Given the description of an element on the screen output the (x, y) to click on. 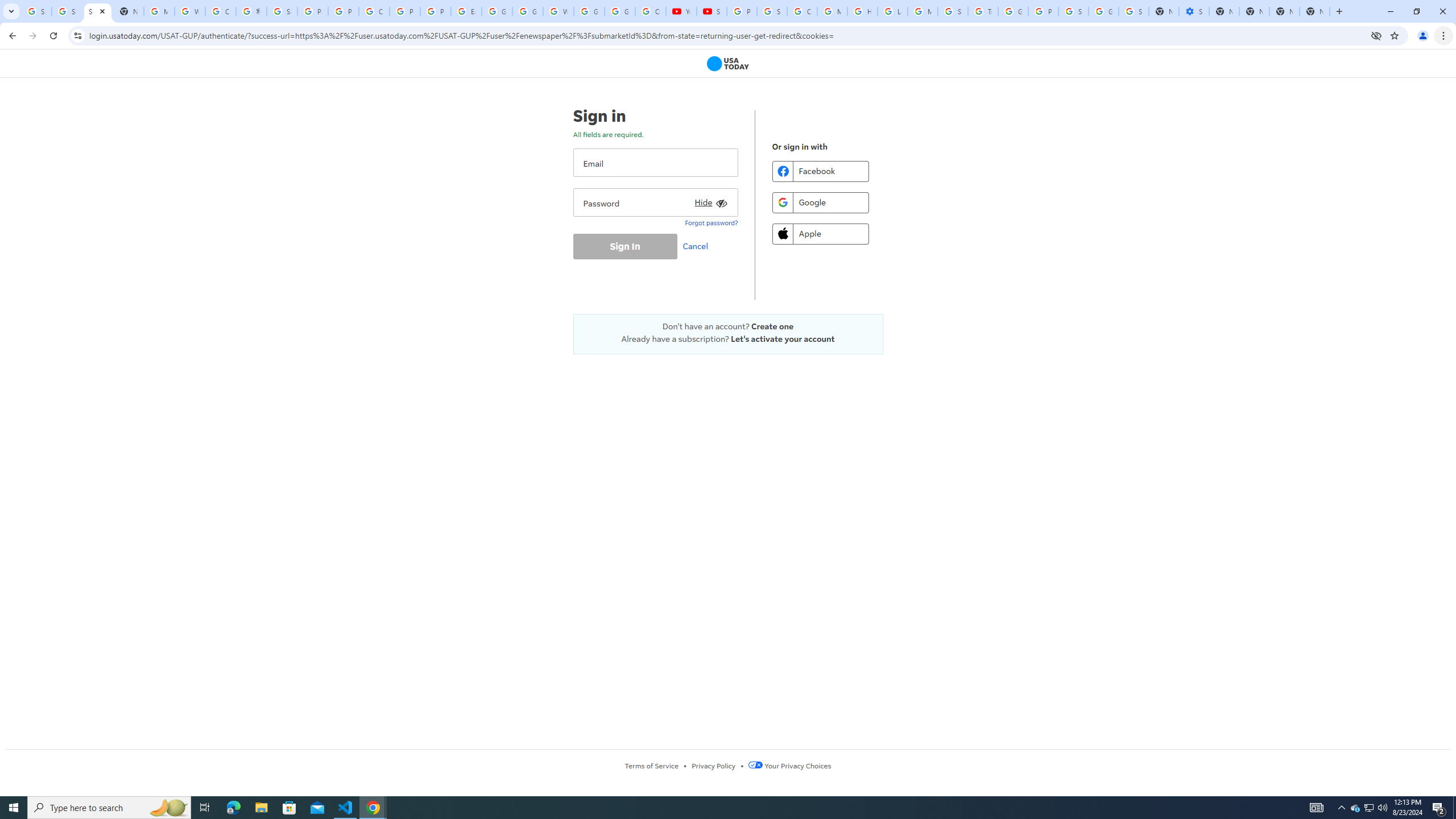
Facebook (820, 170)
Settings - Performance (1193, 11)
Create your Google Account (220, 11)
Sign in - Google Accounts (1133, 11)
Edit and view right-to-left text - Google Docs Editors Help (465, 11)
Account Username (655, 162)
Who is my administrator? - Google Account Help (189, 11)
Hide (708, 200)
